Given the description of an element on the screen output the (x, y) to click on. 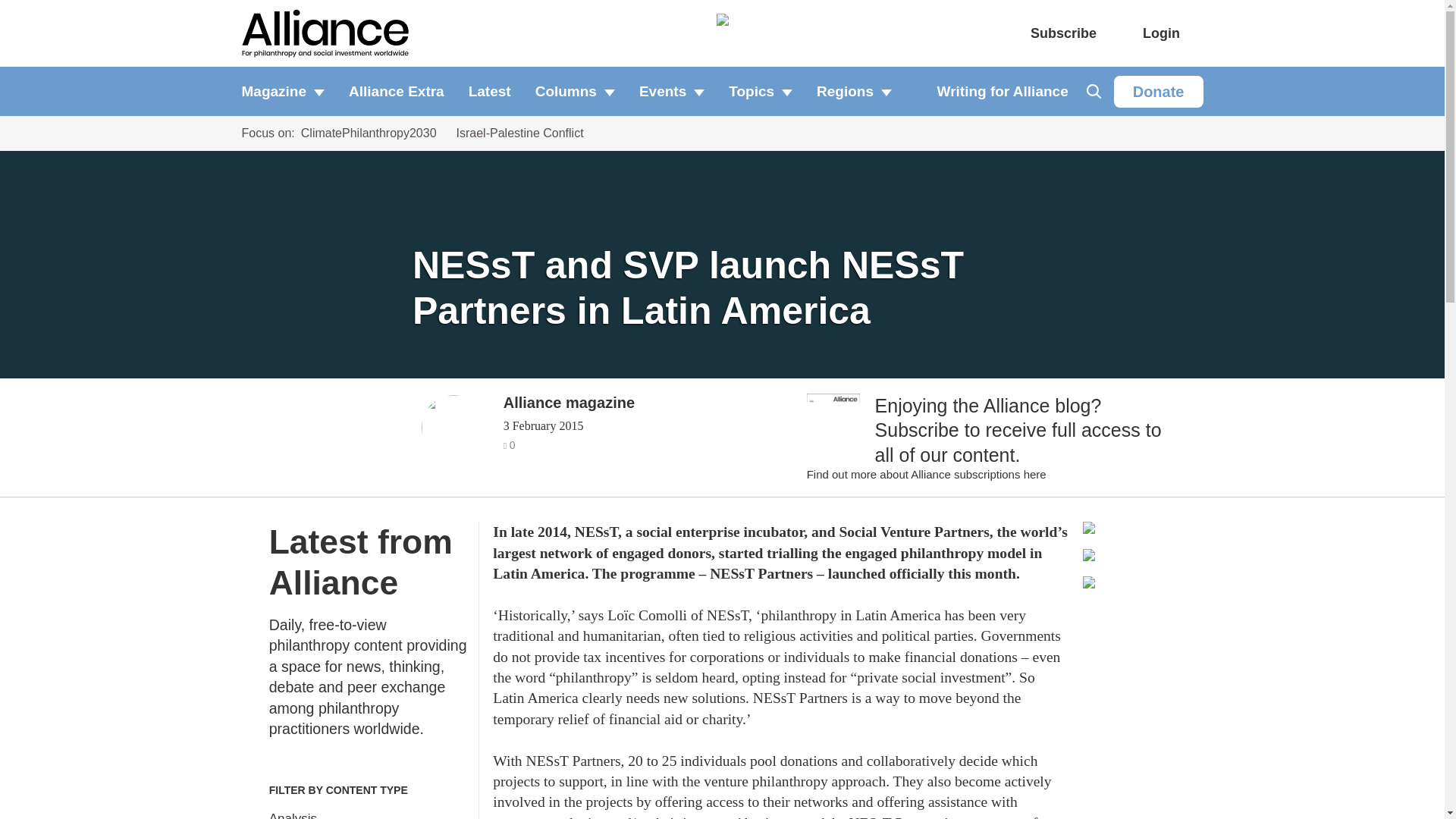
Columns (574, 91)
Login (1160, 33)
Latest (489, 91)
Subscribe (1063, 33)
Magazine (288, 91)
Topics (760, 91)
Alliance Extra (396, 91)
Events (671, 91)
Donate (1158, 91)
